Given the description of an element on the screen output the (x, y) to click on. 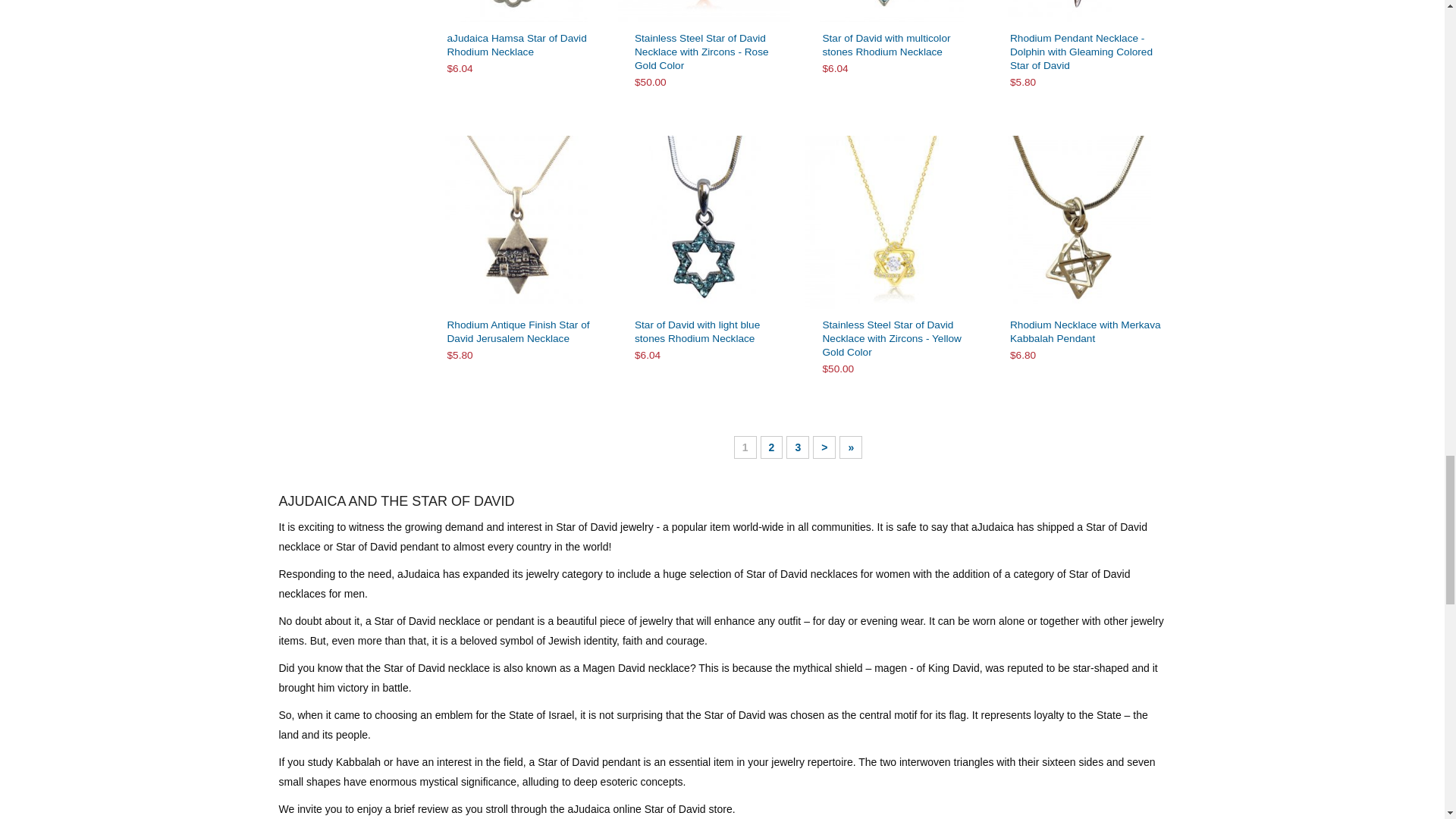
Next (823, 446)
Last (850, 446)
Page 2 (771, 446)
Page 3 (797, 446)
